Given the description of an element on the screen output the (x, y) to click on. 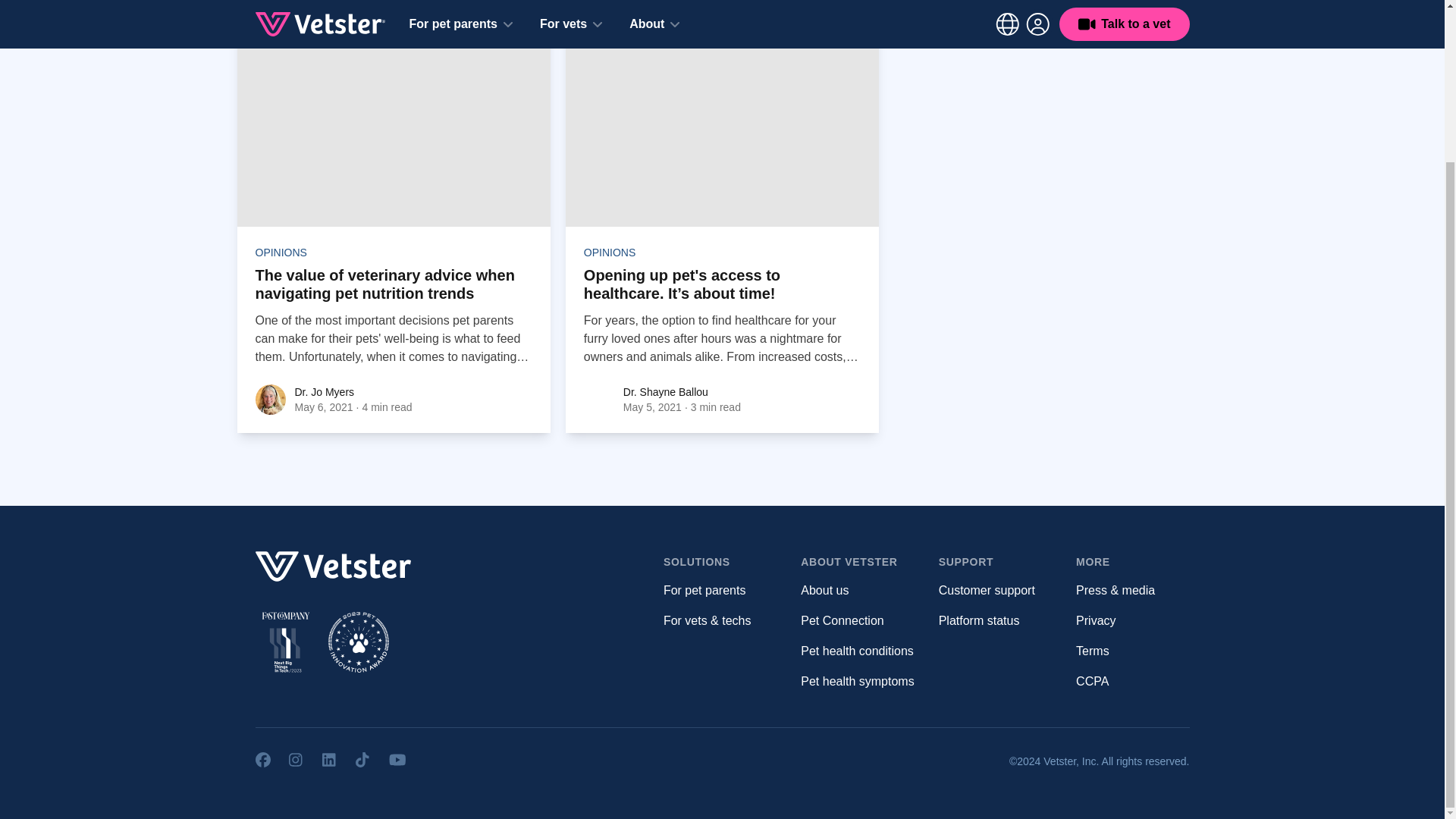
Pet health conditions (857, 650)
Dr. Shayne Ballou (665, 391)
For pet parents (704, 590)
Customer support (987, 590)
Pet Connection (841, 620)
Instagram (295, 759)
Dr. Jo Myers (269, 399)
Privacy (1095, 620)
TikTok (362, 759)
